Given the description of an element on the screen output the (x, y) to click on. 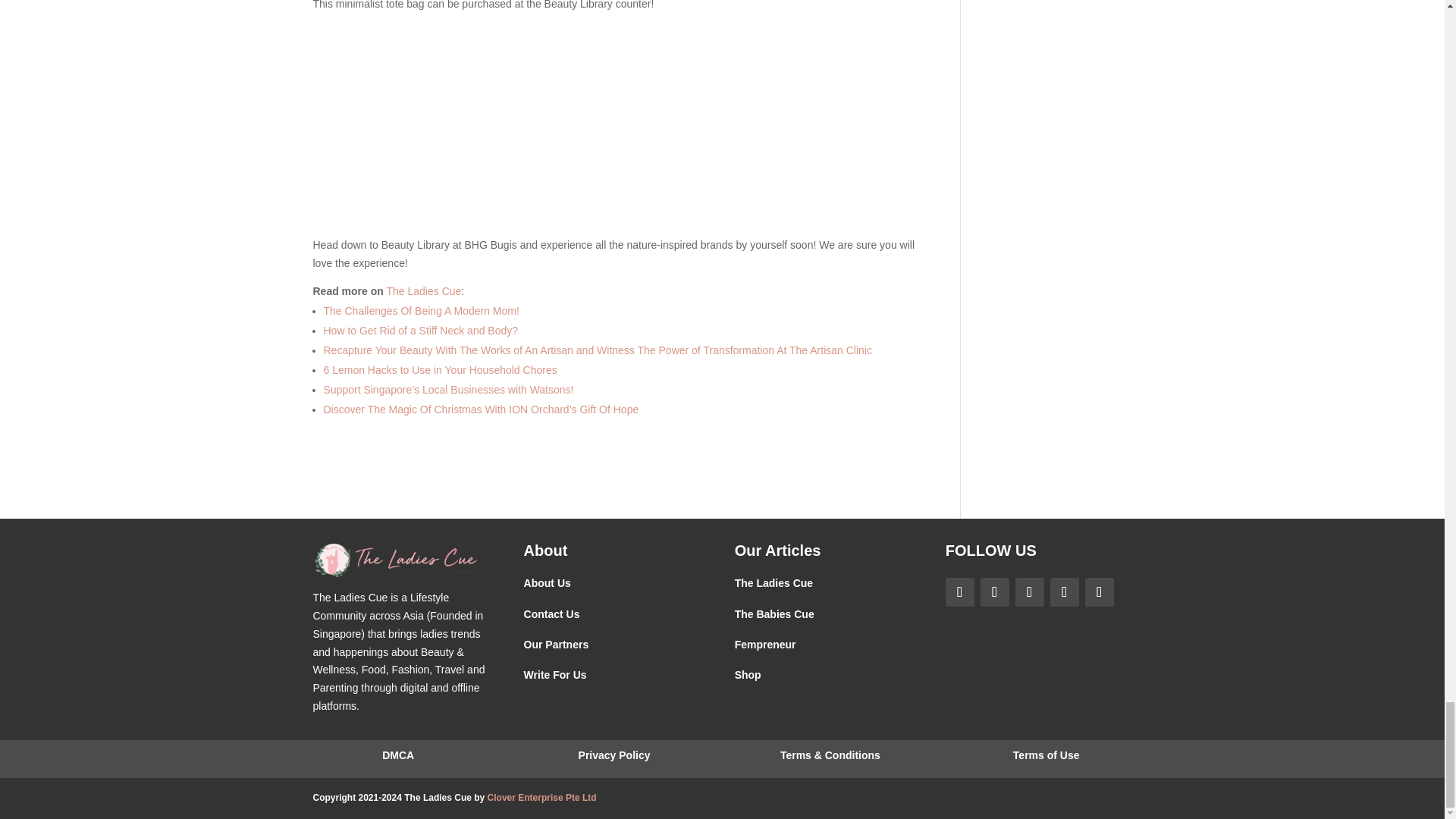
The Challenges Of Being A Modern Mom! (420, 310)
Follow on Facebook (959, 592)
Follow on Pinterest (1028, 592)
Follow on Youtube (1098, 592)
Follow on Instagram (994, 592)
Follow on X (1063, 592)
cropped-TLC-web-header.png (396, 559)
